Given the description of an element on the screen output the (x, y) to click on. 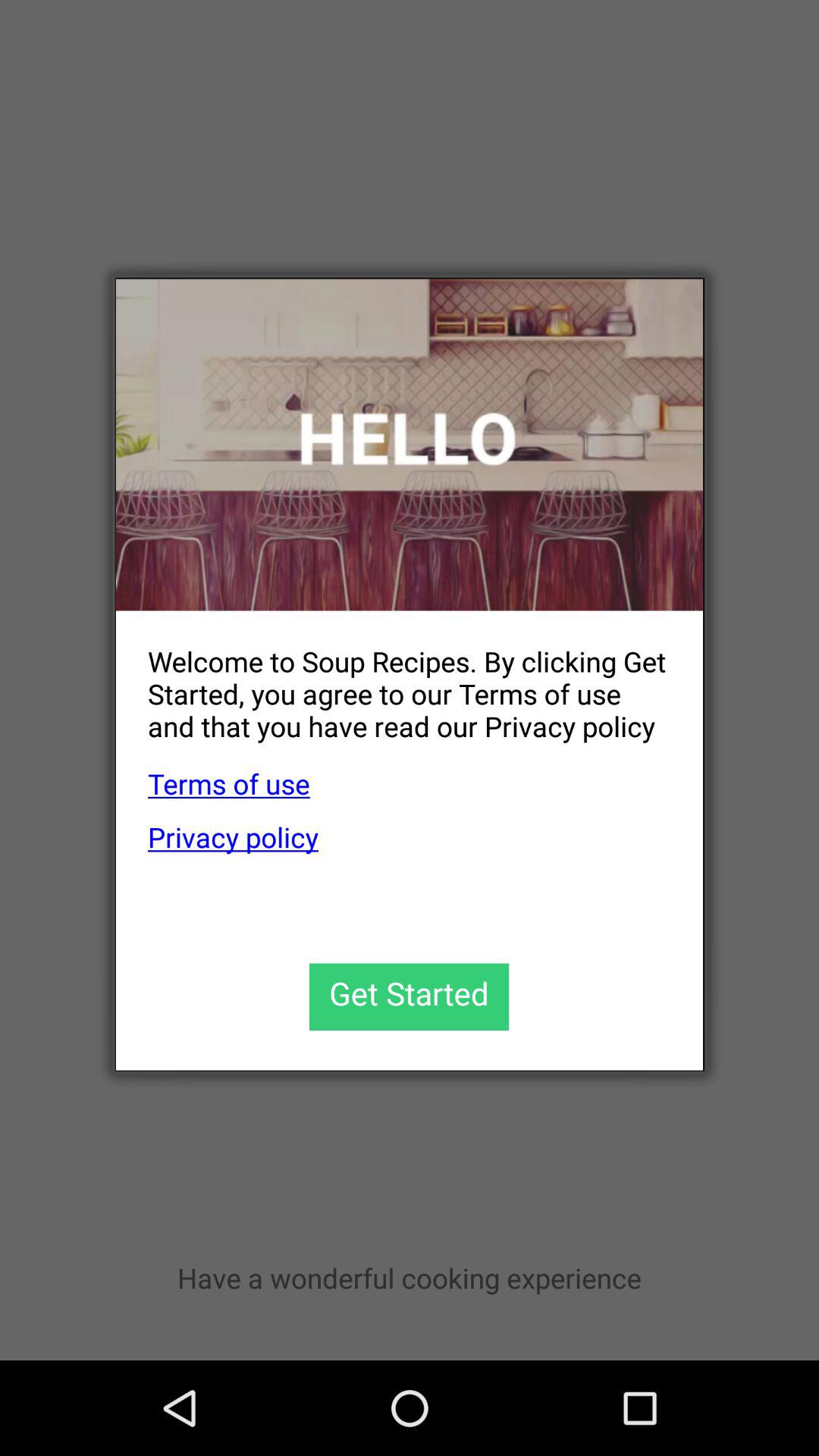
get started (409, 996)
